Given the description of an element on the screen output the (x, y) to click on. 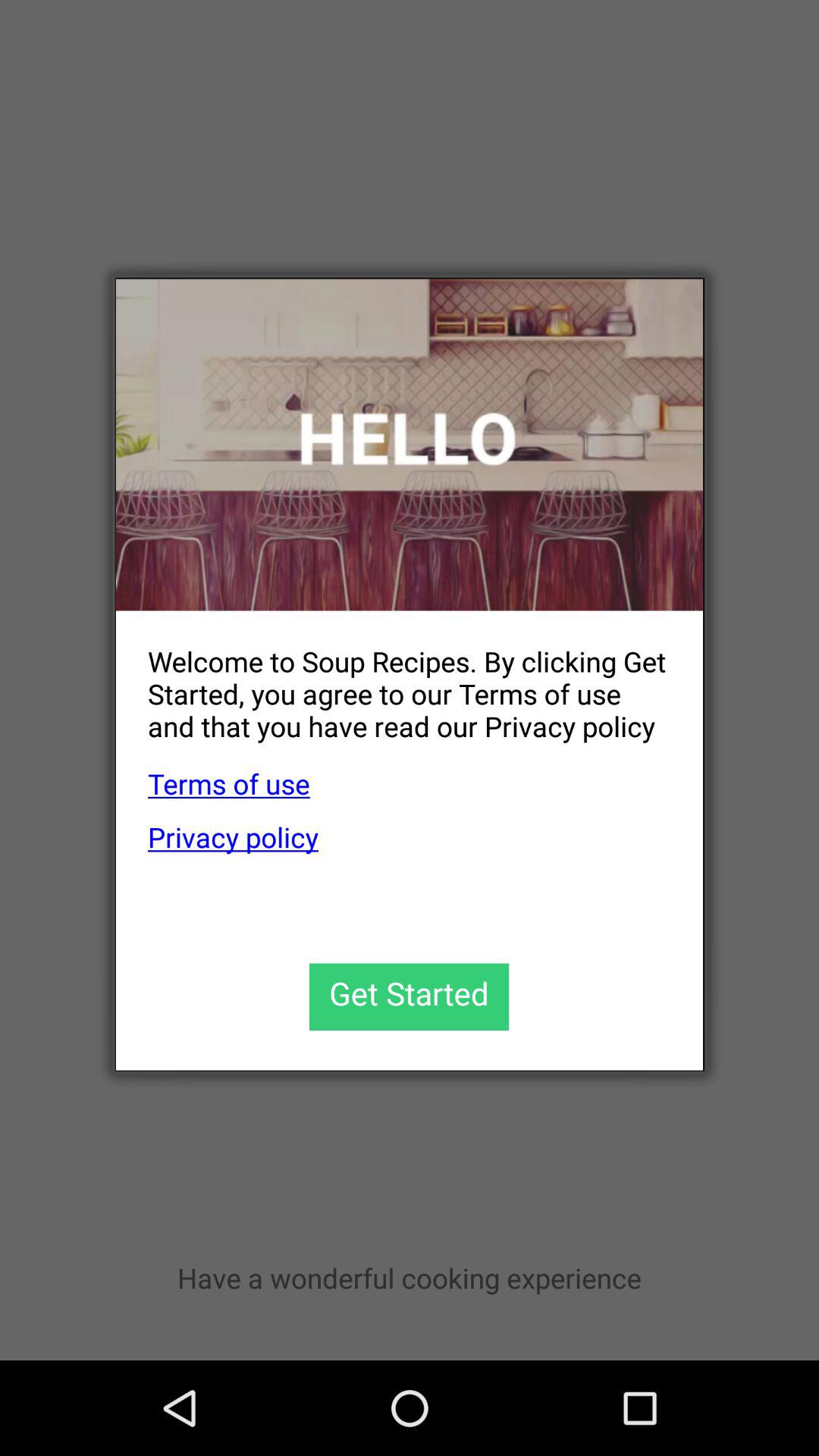
get started (409, 996)
